Given the description of an element on the screen output the (x, y) to click on. 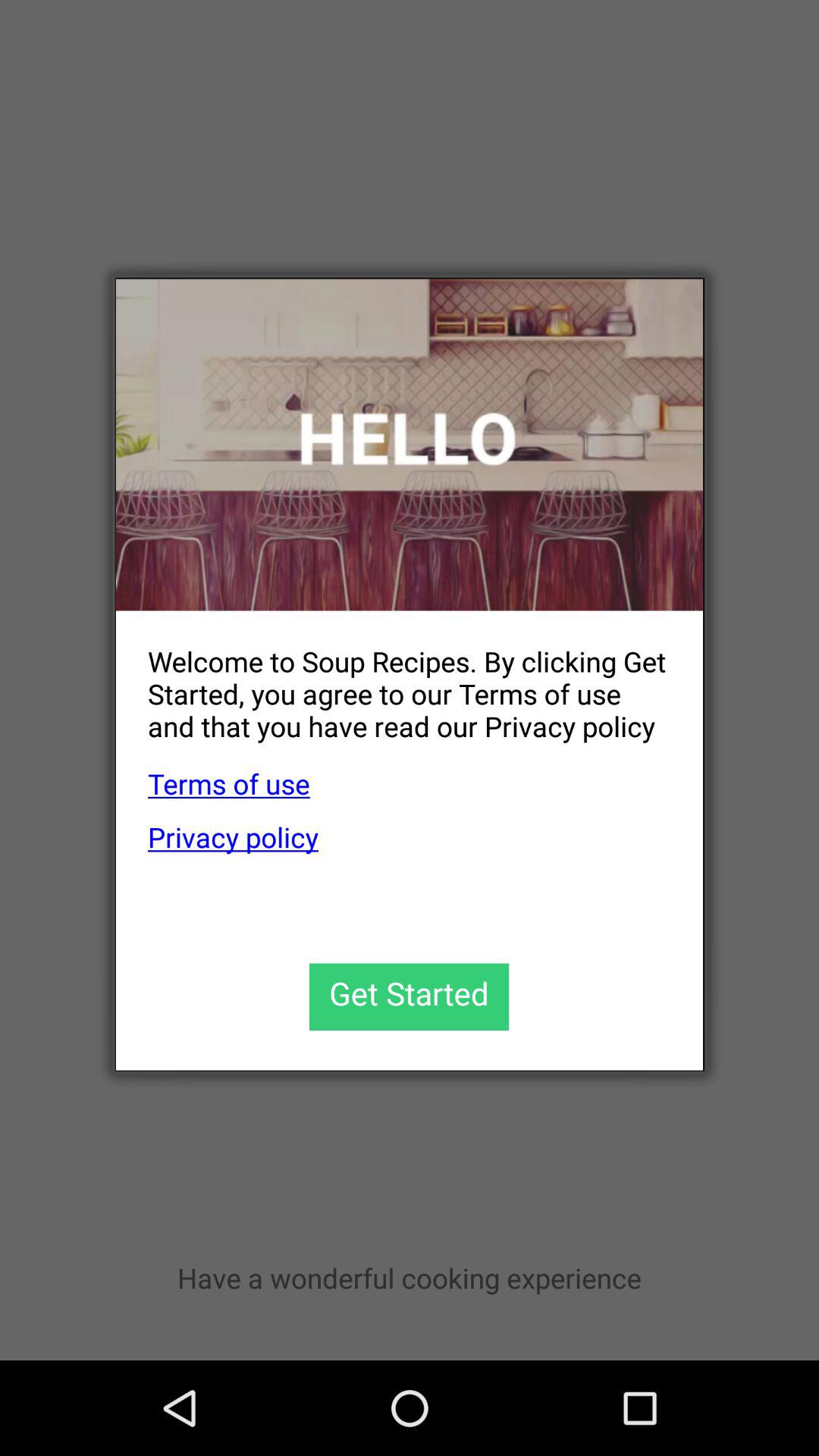
get started (409, 996)
